Given the description of an element on the screen output the (x, y) to click on. 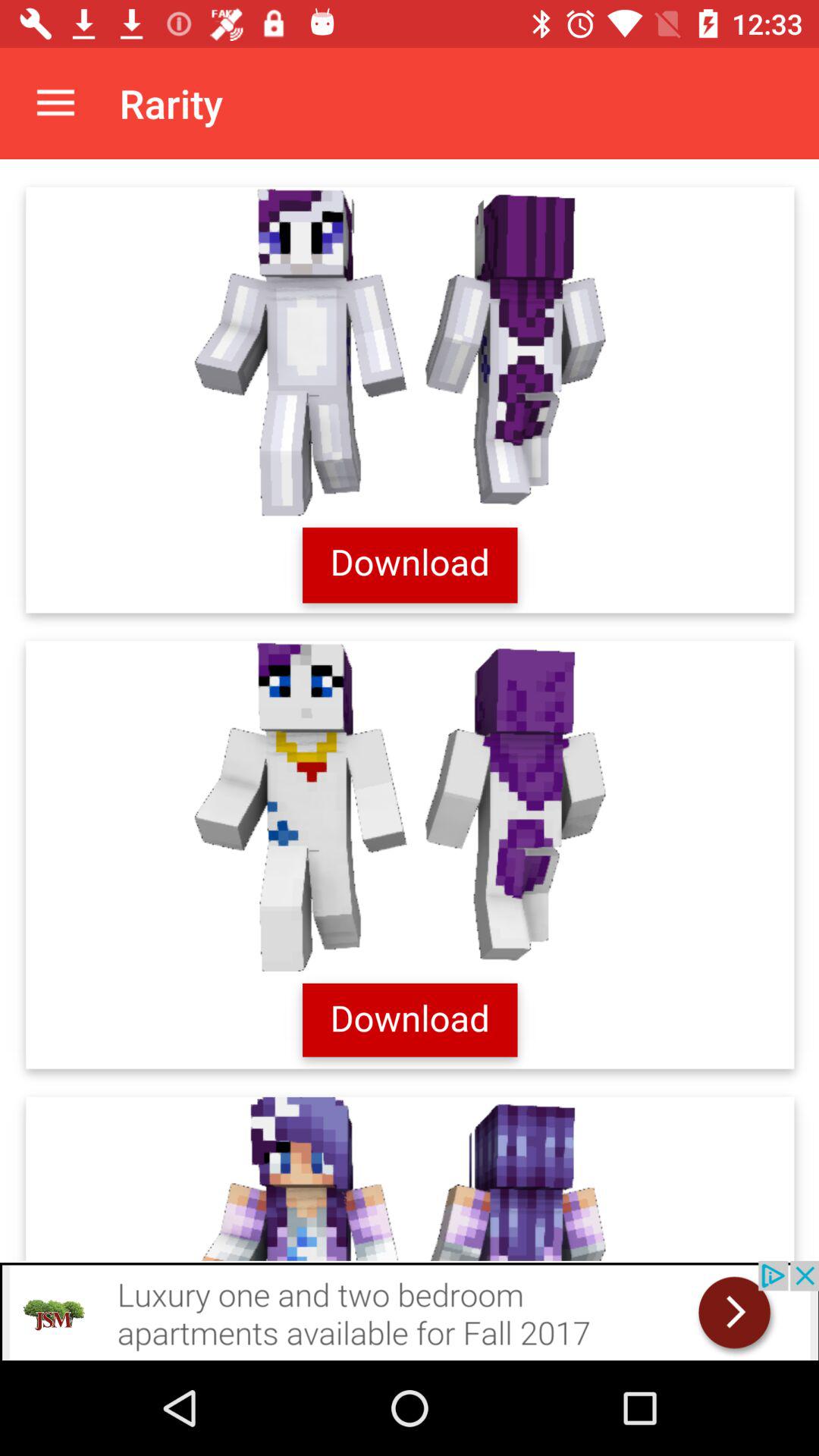
see advertisement (409, 1310)
